Given the description of an element on the screen output the (x, y) to click on. 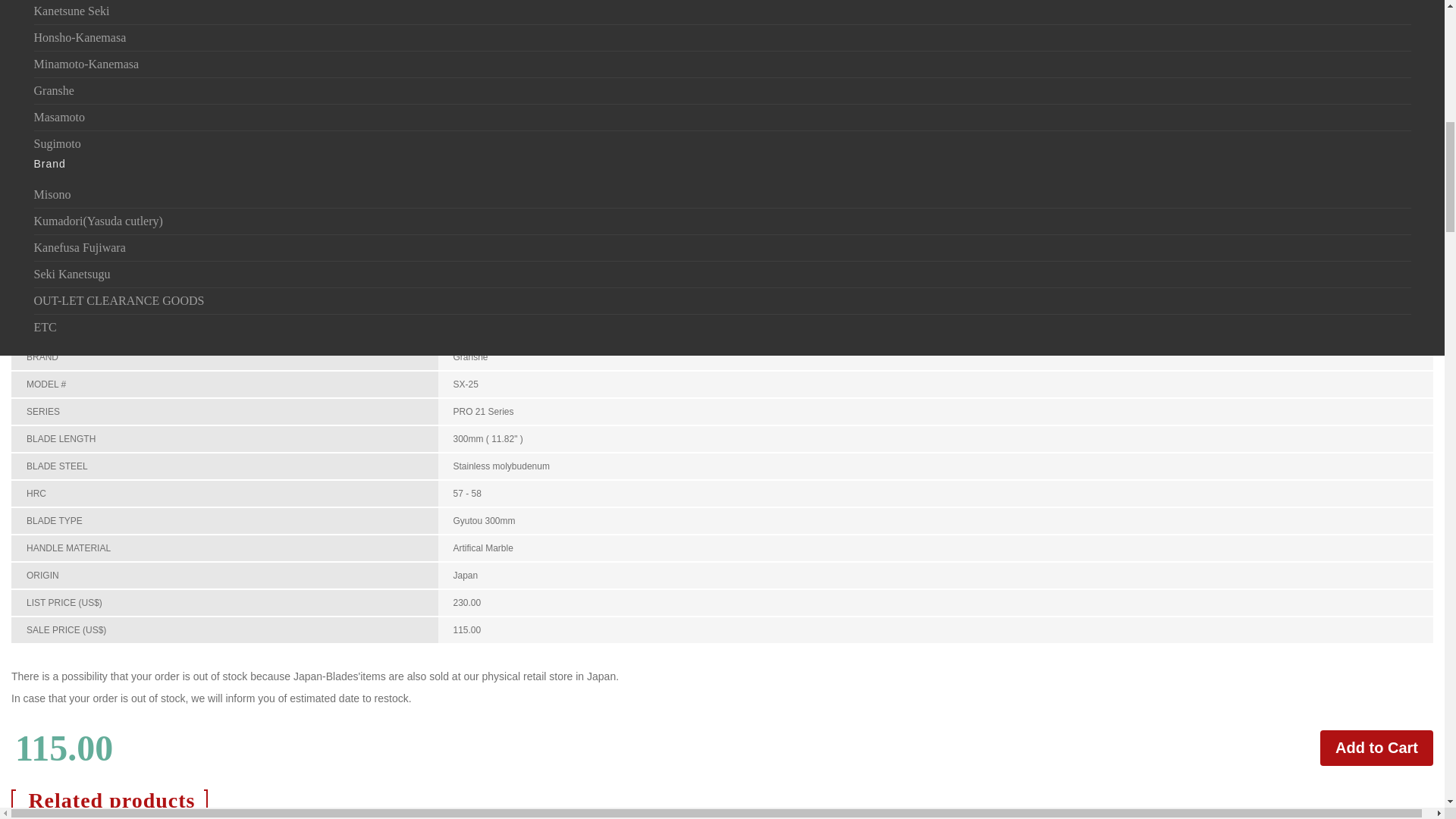
Add to Cart (1376, 747)
